Given the description of an element on the screen output the (x, y) to click on. 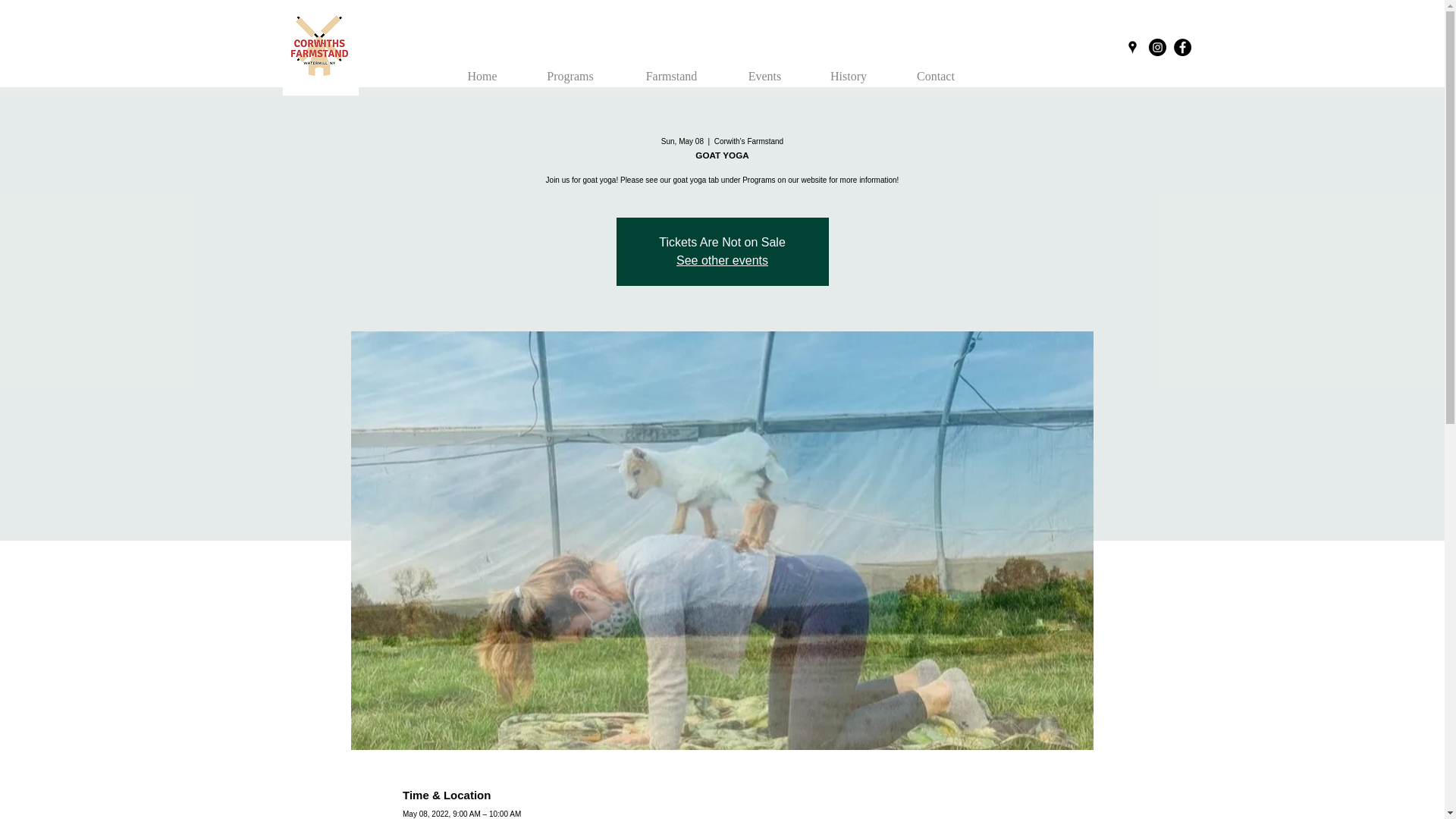
See other events (722, 259)
Farmstand (670, 69)
Home (481, 69)
Events (764, 69)
Contact (935, 69)
History (848, 69)
